Given the description of an element on the screen output the (x, y) to click on. 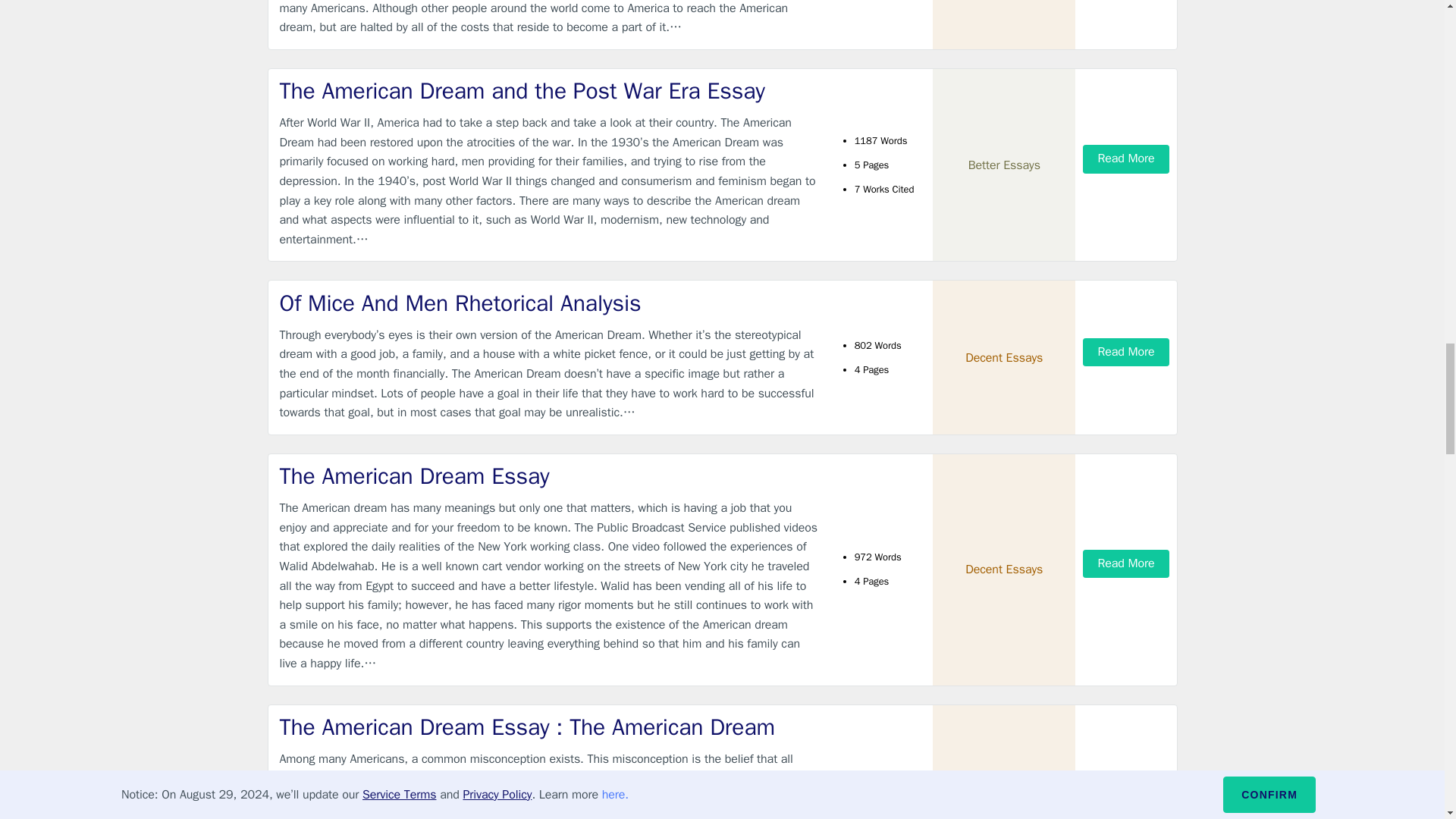
The American Dream Essay : The American Dream (548, 726)
Read More (1126, 158)
Read More (1126, 352)
Read More (1126, 563)
Of Mice And Men Rhetorical Analysis (548, 303)
The American Dream Essay (548, 476)
The American Dream and the Post War Era Essay (548, 91)
